Given the description of an element on the screen output the (x, y) to click on. 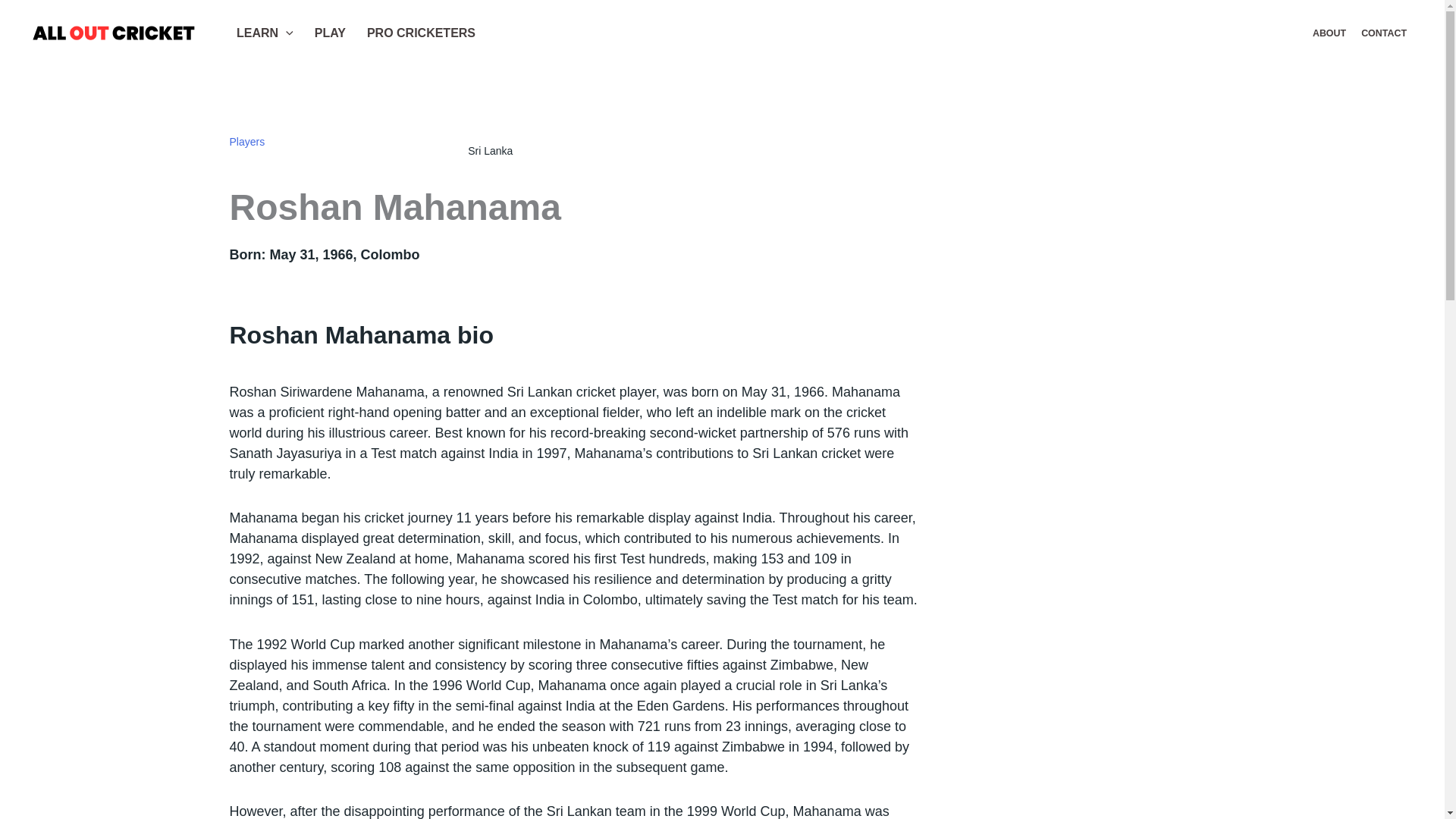
CONTACT (1383, 33)
LEARN (264, 33)
Players (246, 141)
PRO CRICKETERS (421, 33)
